Given the description of an element on the screen output the (x, y) to click on. 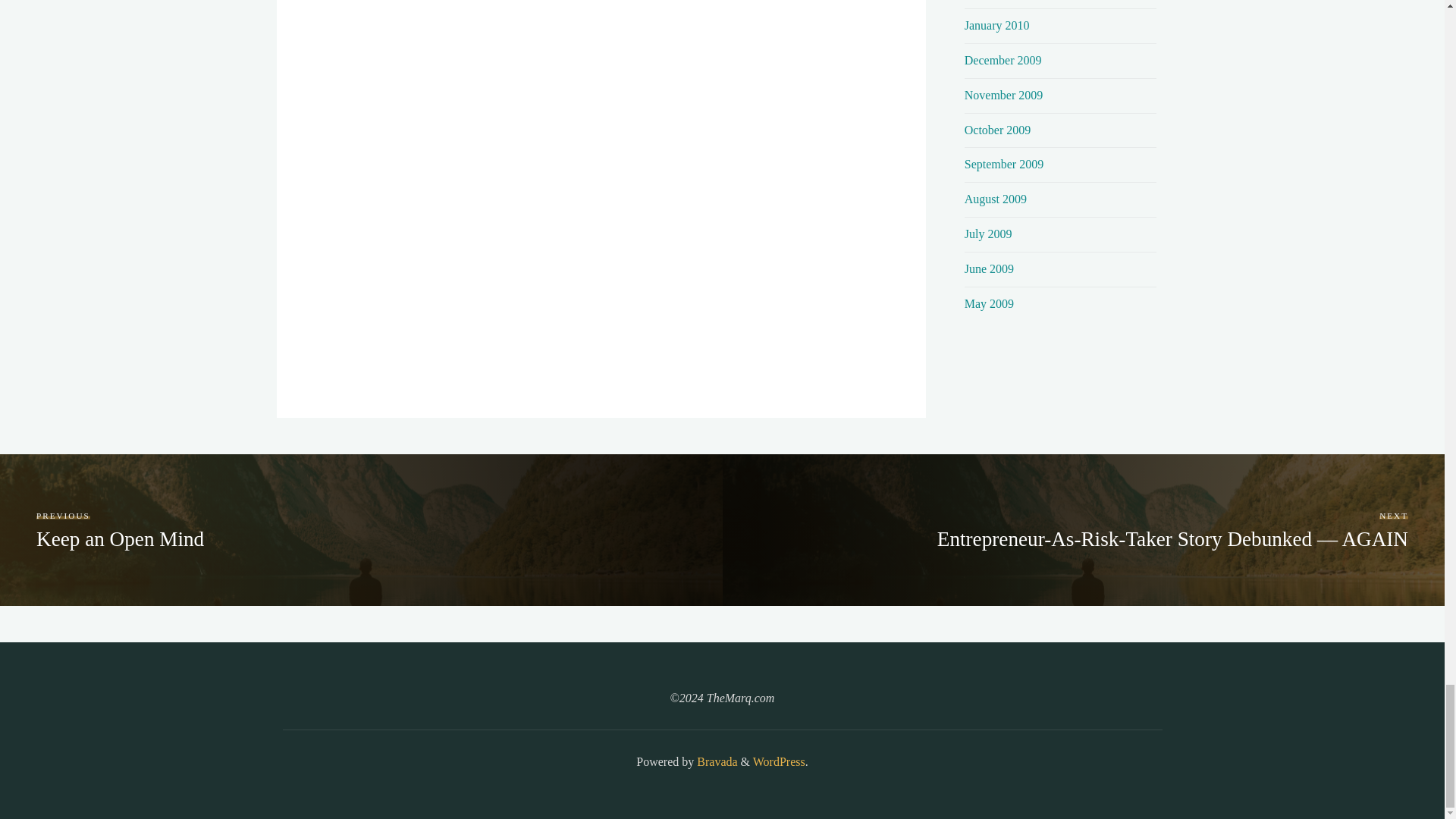
Semantic Personal Publishing Platform (778, 761)
Bravada WordPress Theme by Cryout Creations (715, 761)
